Given the description of an element on the screen output the (x, y) to click on. 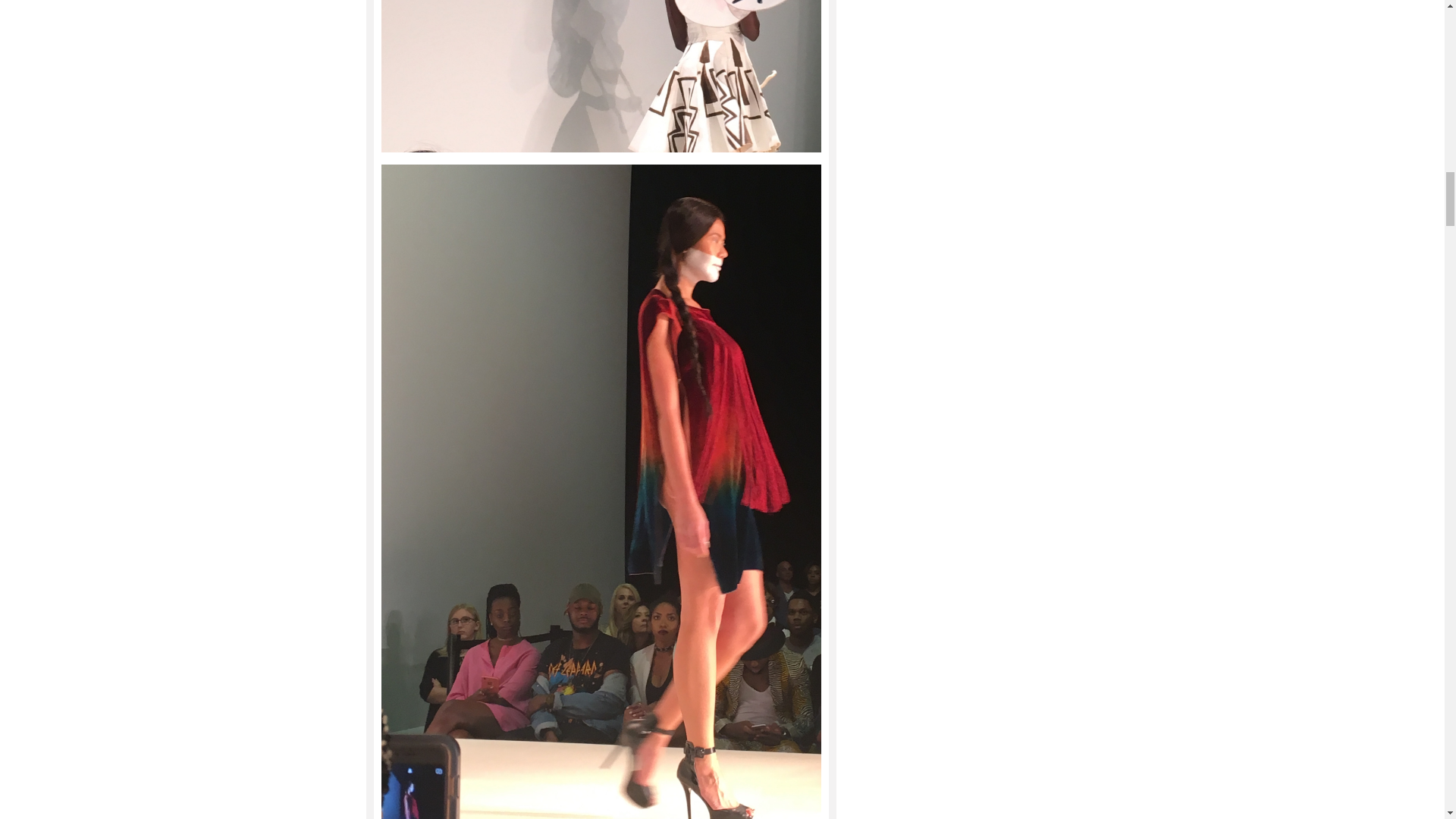
1-patricia-michaels-style-fashion-week-hand-print-fan (600, 76)
